Given the description of an element on the screen output the (x, y) to click on. 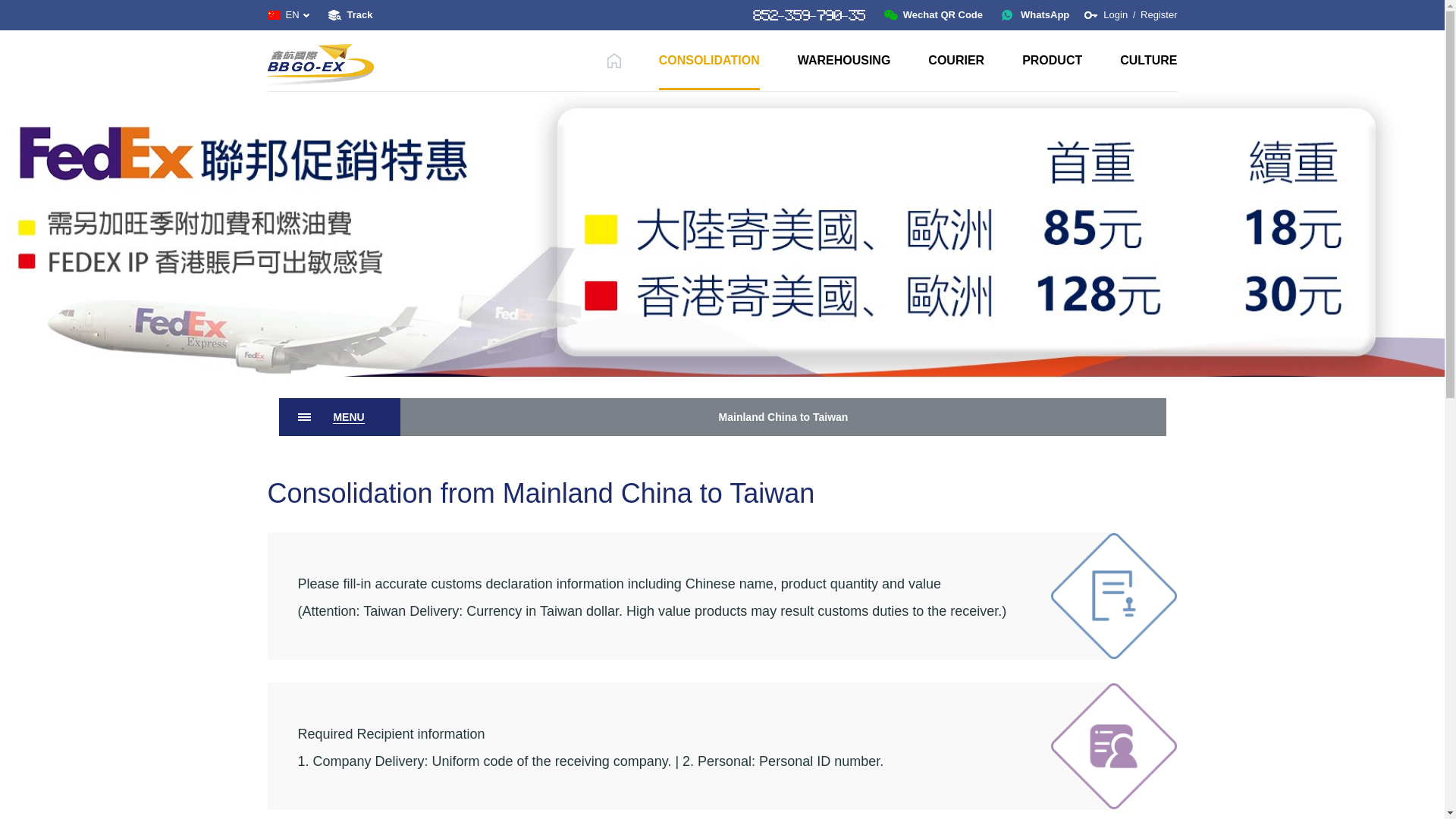
CONSOLIDATION (709, 60)
WAREHOUSING (844, 60)
PRODUCT (1051, 60)
Register (1158, 14)
WAREHOUSING (844, 60)
COURIER (956, 60)
CULTURE (1147, 60)
CONSOLIDATION (709, 60)
CULTURE (1147, 60)
COURIER (956, 60)
PRODUCT (1051, 60)
Track (350, 15)
Login (1116, 14)
